Given the description of an element on the screen output the (x, y) to click on. 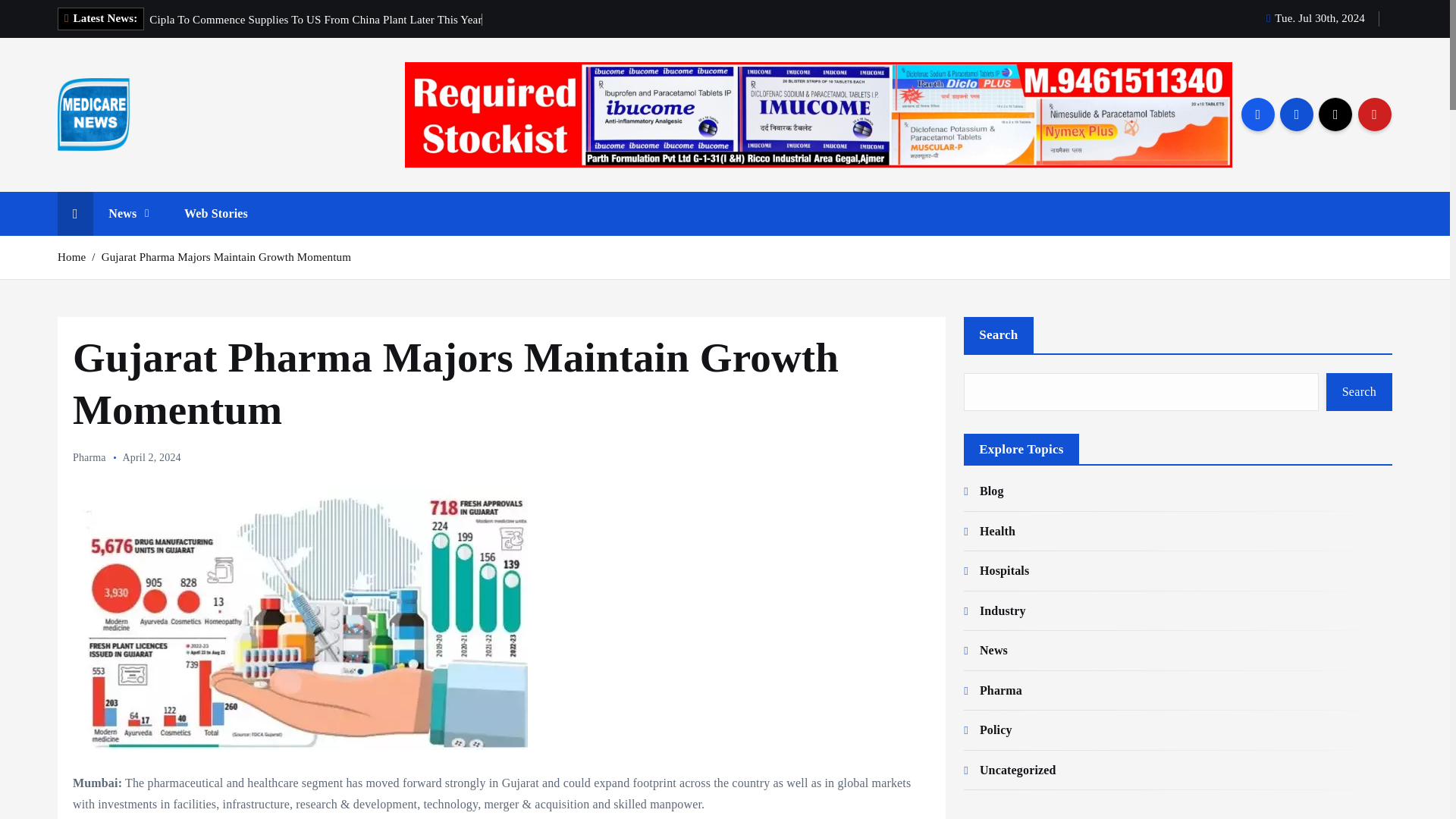
News (128, 213)
Web Stories (215, 213)
News (128, 213)
Web Stories (215, 213)
